Given the description of an element on the screen output the (x, y) to click on. 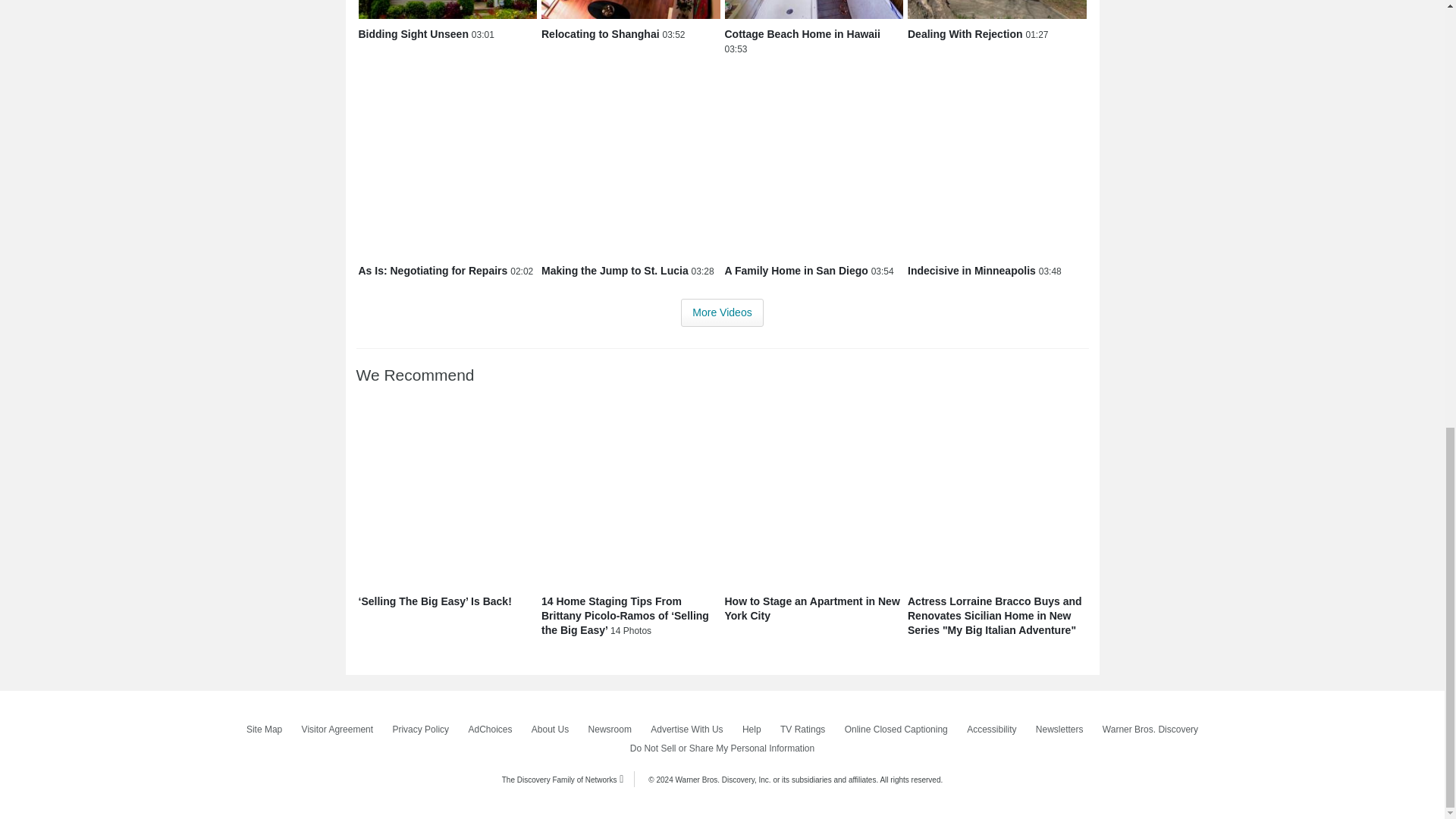
How to Stage an Apartment in New York City (814, 497)
